Given the description of an element on the screen output the (x, y) to click on. 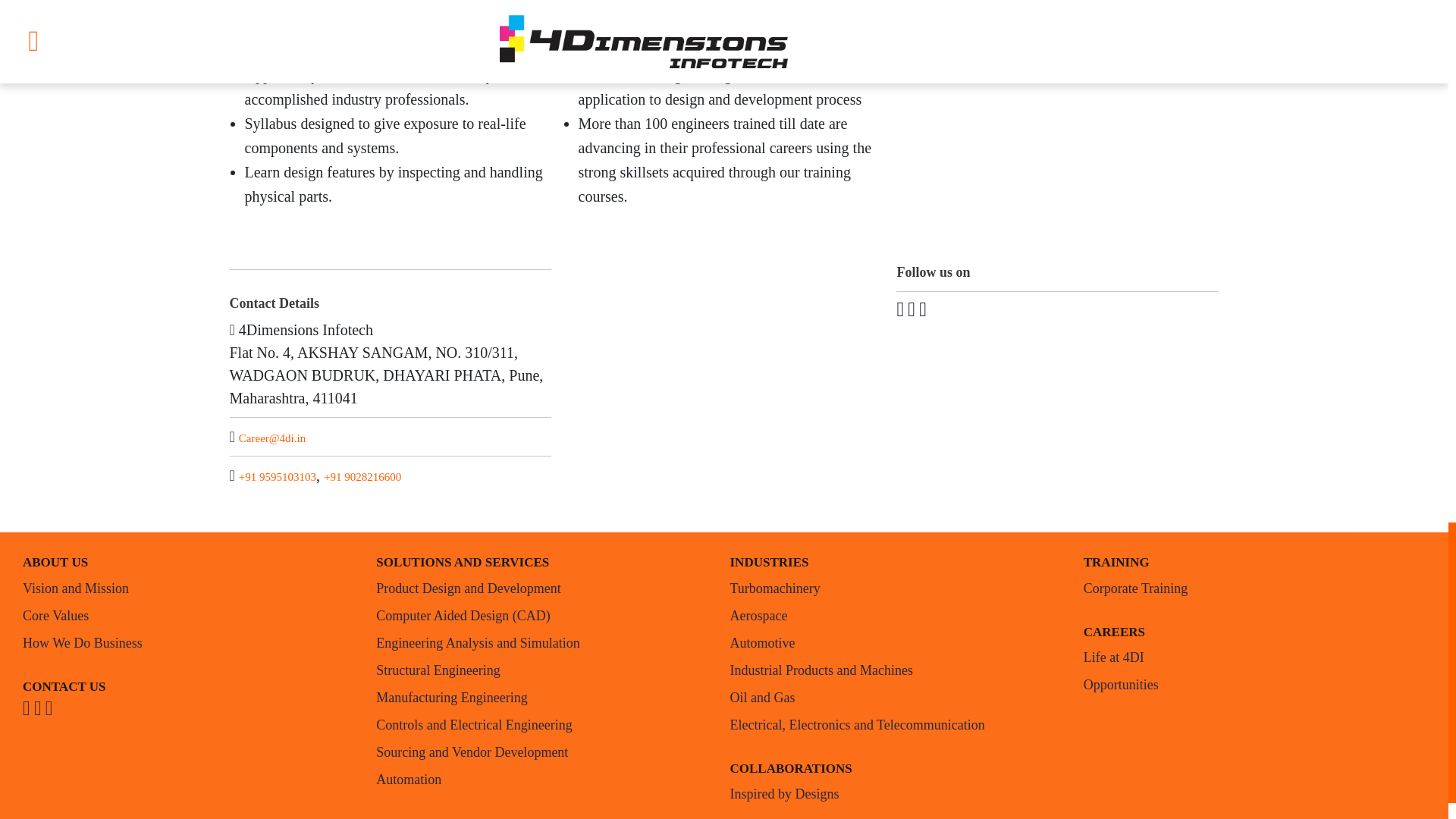
Manufacturing Engineering (546, 697)
Core Values (194, 615)
Sourcing and Vendor Development (546, 751)
Engineering Analysis and Simulation (546, 642)
Controls and Electrical Engineering (546, 724)
Aerospace (900, 615)
Automation (546, 779)
Turbomachinery (900, 587)
Vision and Mission (194, 587)
SOLUTIONS AND SERVICES (546, 562)
